Given the description of an element on the screen output the (x, y) to click on. 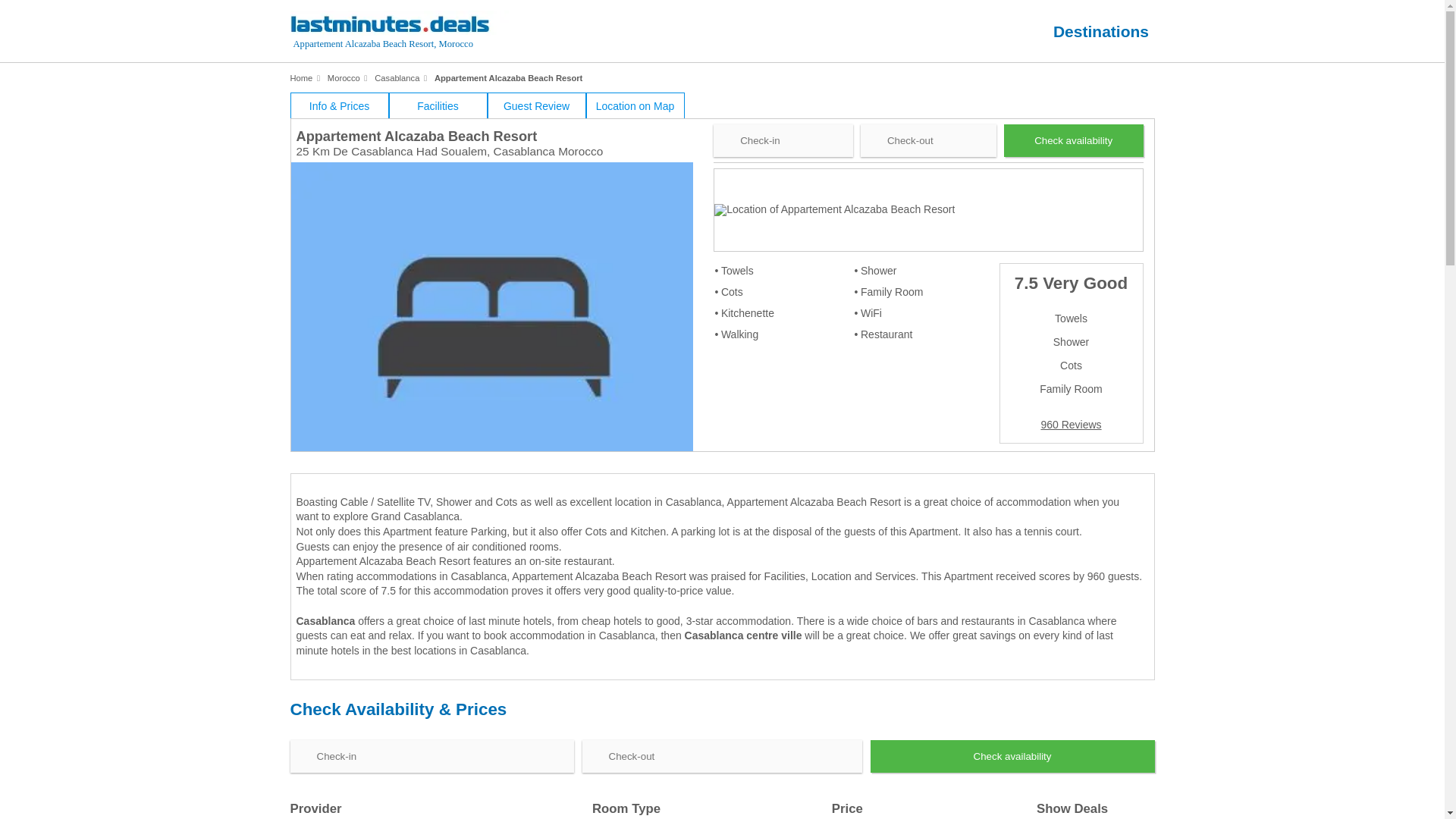
Last Minute Hotel Deals (416, 33)
Location on Map (634, 105)
Destinations (1100, 31)
Check availability (1073, 140)
Casablanca hotels (396, 77)
Casablanca centre ville in Casablanca (743, 635)
Guest Review (535, 105)
Casablanca (396, 77)
Morocco hotels (343, 77)
Appartement Alcazaba Beach Resort (507, 77)
